Given the description of an element on the screen output the (x, y) to click on. 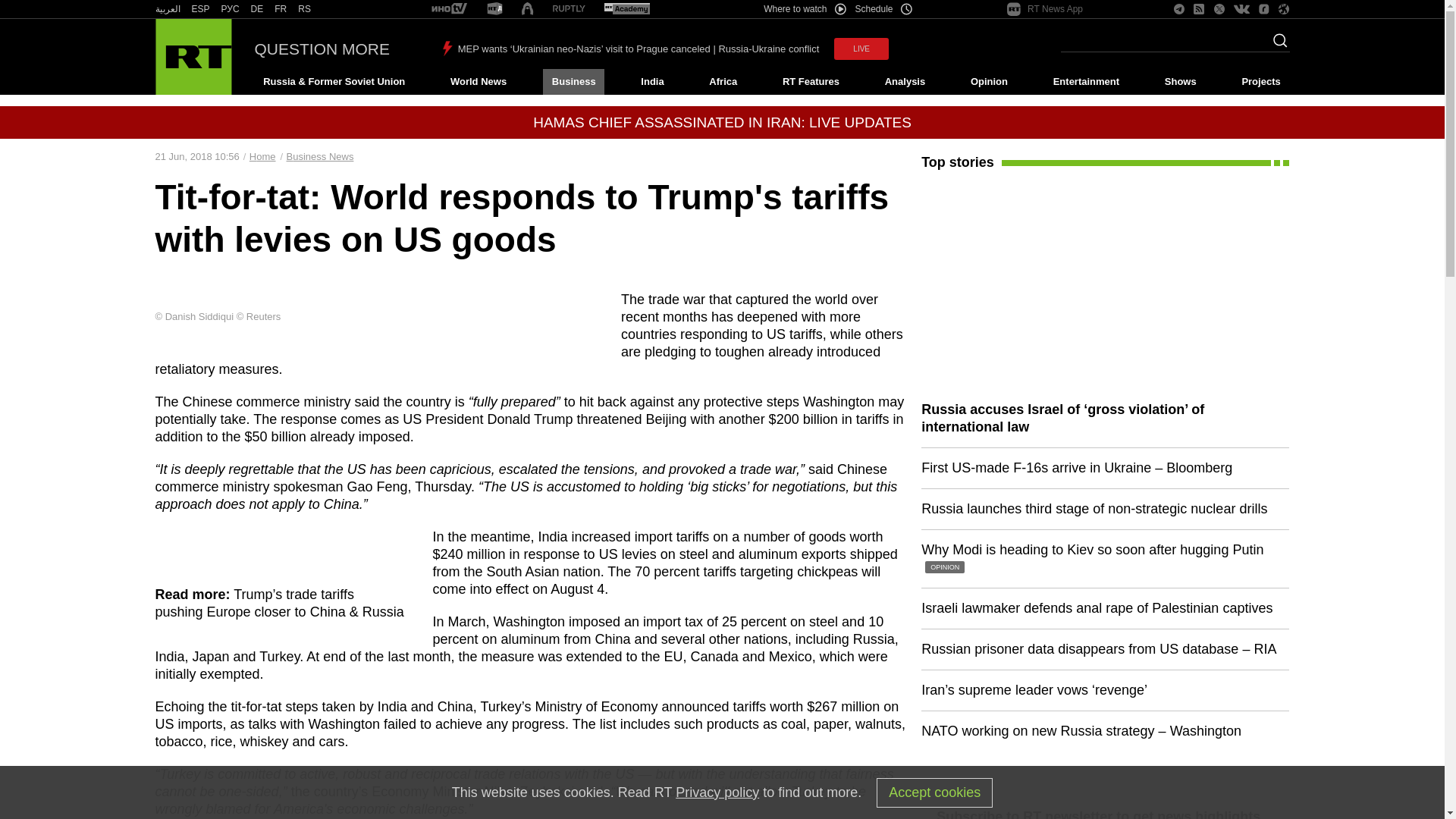
FR (280, 9)
LIVE (861, 48)
RT  (448, 9)
RT News App (1045, 9)
Entertainment (1085, 81)
World News (478, 81)
RT  (304, 9)
ESP (199, 9)
Opinion (988, 81)
Analysis (905, 81)
RT  (626, 9)
QUESTION MORE (322, 48)
Schedule (884, 9)
RT  (199, 9)
DE (256, 9)
